Given the description of an element on the screen output the (x, y) to click on. 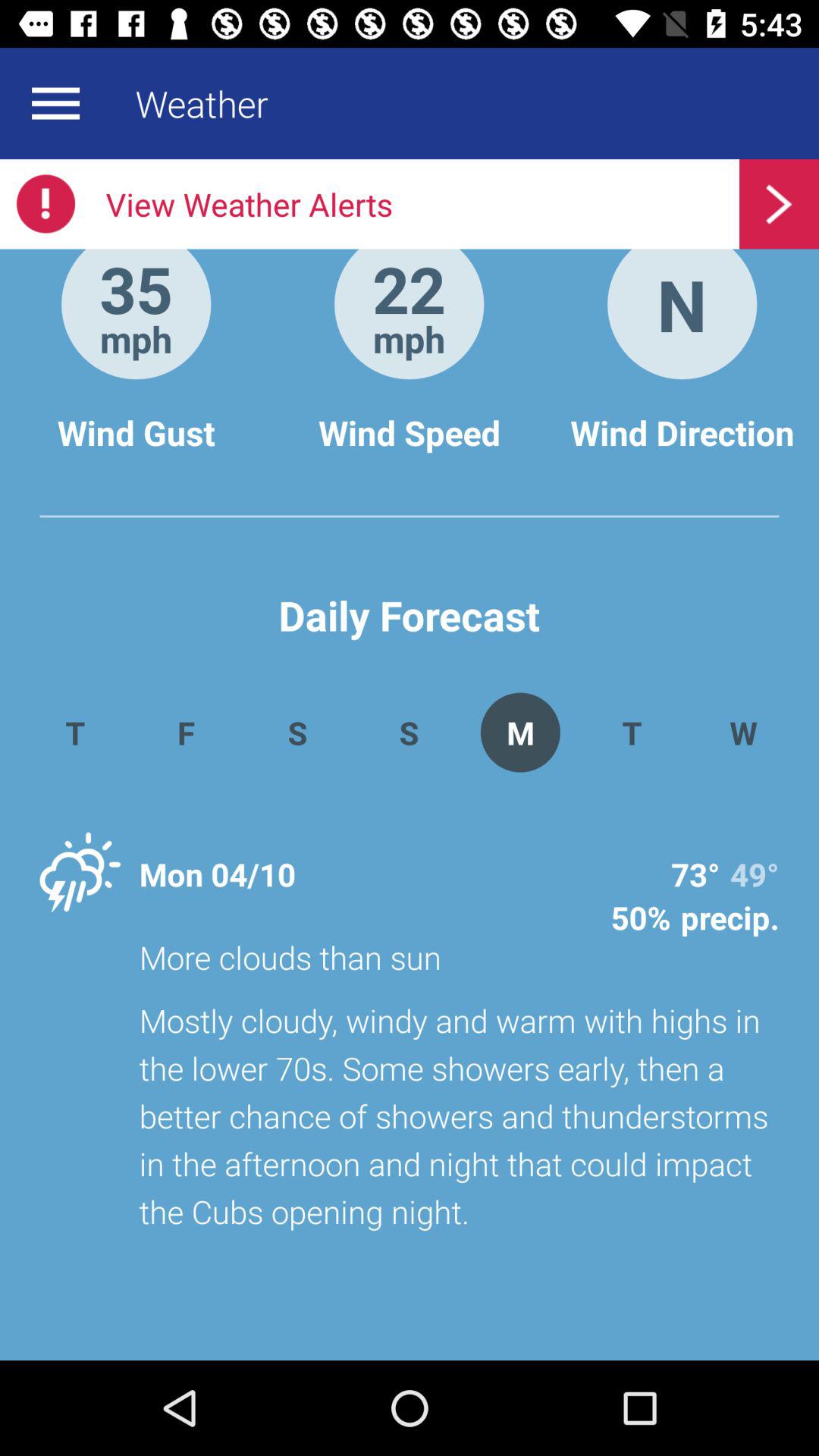
more options for weather (55, 103)
